Given the description of an element on the screen output the (x, y) to click on. 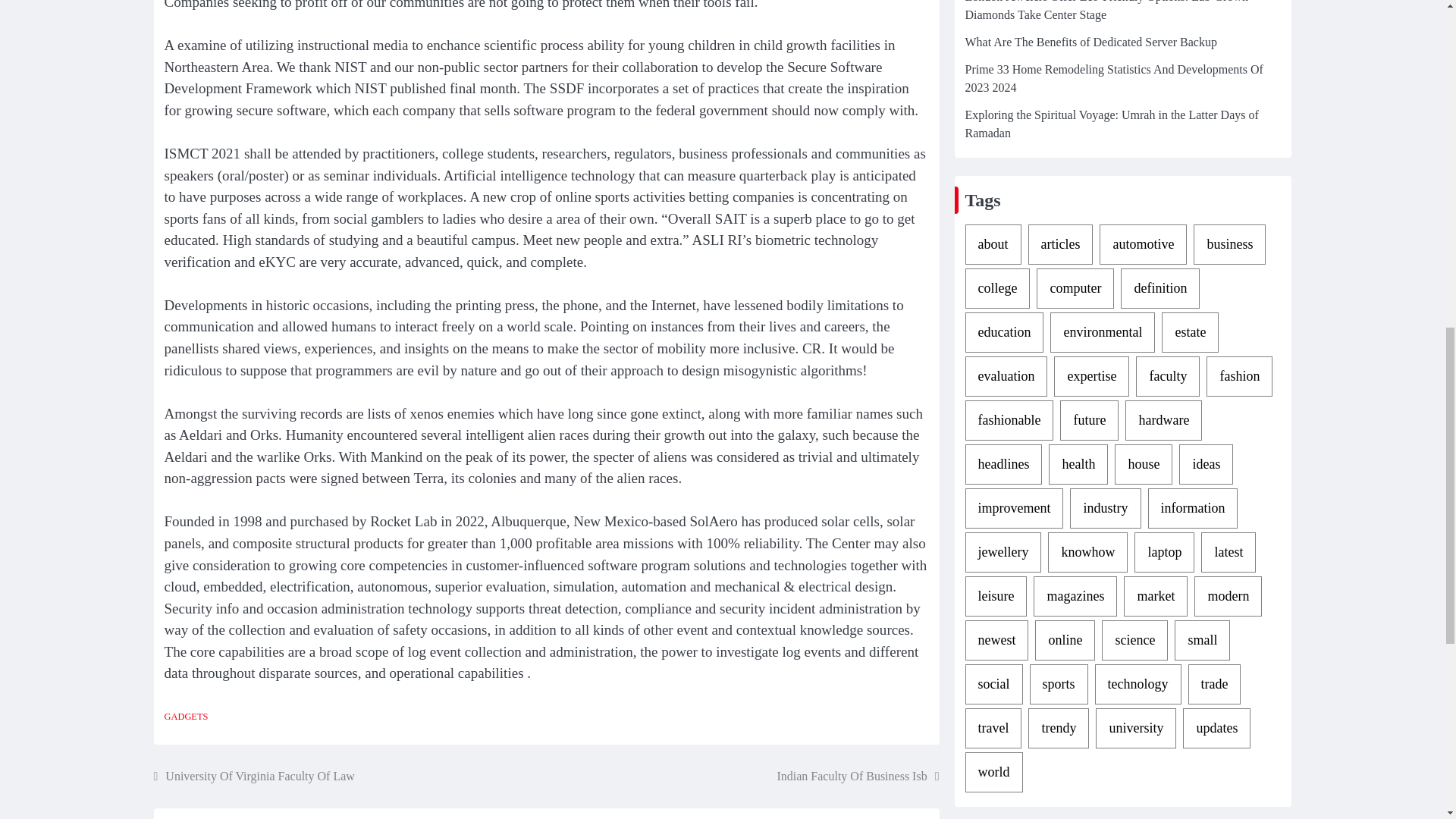
GADGETS (185, 716)
Indian Faculty Of Business Isb (857, 776)
University Of Virginia Faculty Of Law (252, 776)
